Given the description of an element on the screen output the (x, y) to click on. 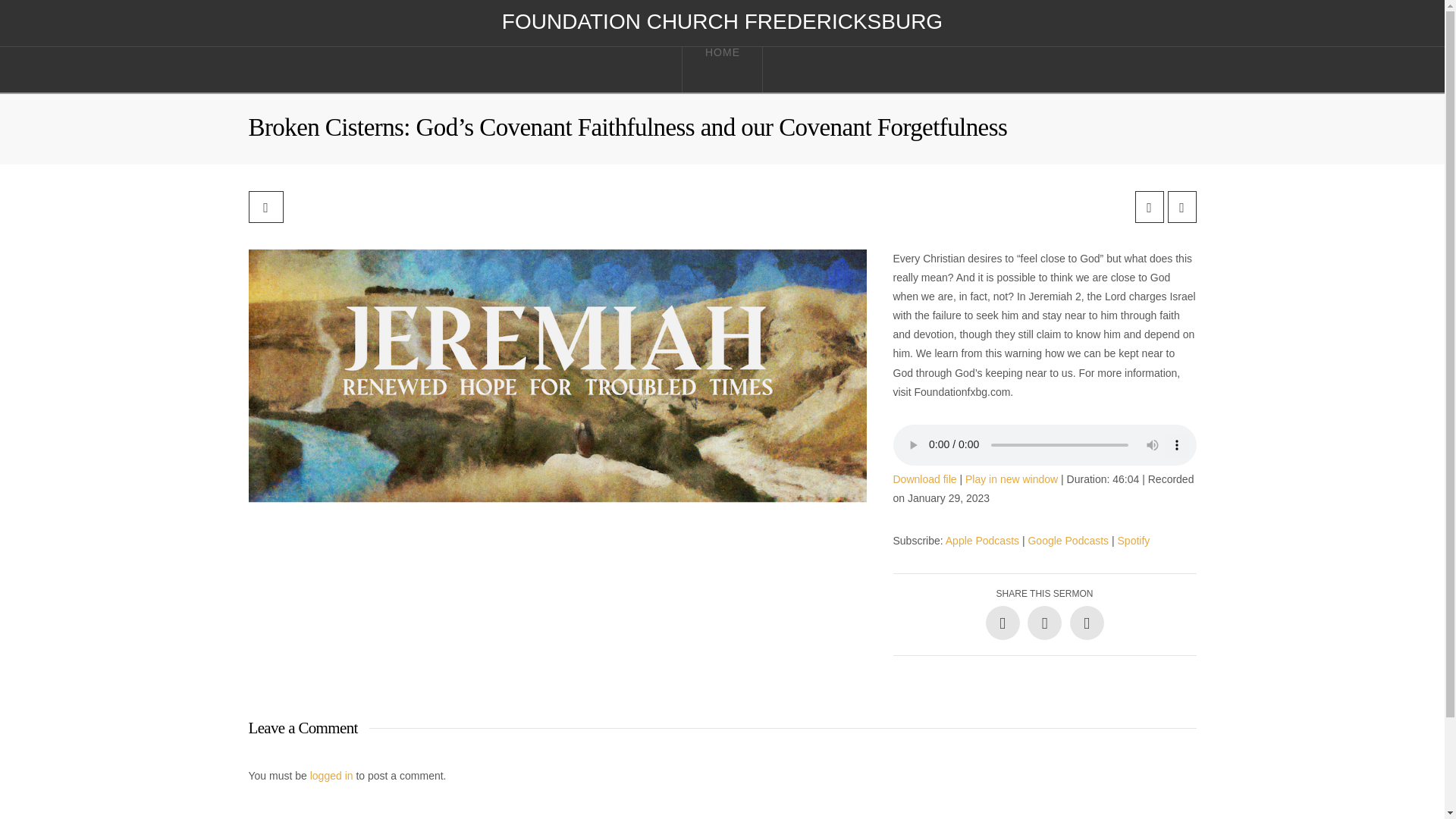
Share on Facebook (1002, 622)
Google Podcasts (1067, 540)
Apple Podcasts (981, 540)
FOUNDATION CHURCH FREDERICKSBURG (722, 21)
Google Podcasts (1067, 540)
Play in new window (1011, 479)
Share on Twitter (1044, 622)
Spotify (1134, 540)
logged in (331, 775)
HOME (721, 69)
Apple Podcasts (981, 540)
Download file (924, 479)
Spotify (1134, 540)
Share via Email (1085, 622)
